Given the description of an element on the screen output the (x, y) to click on. 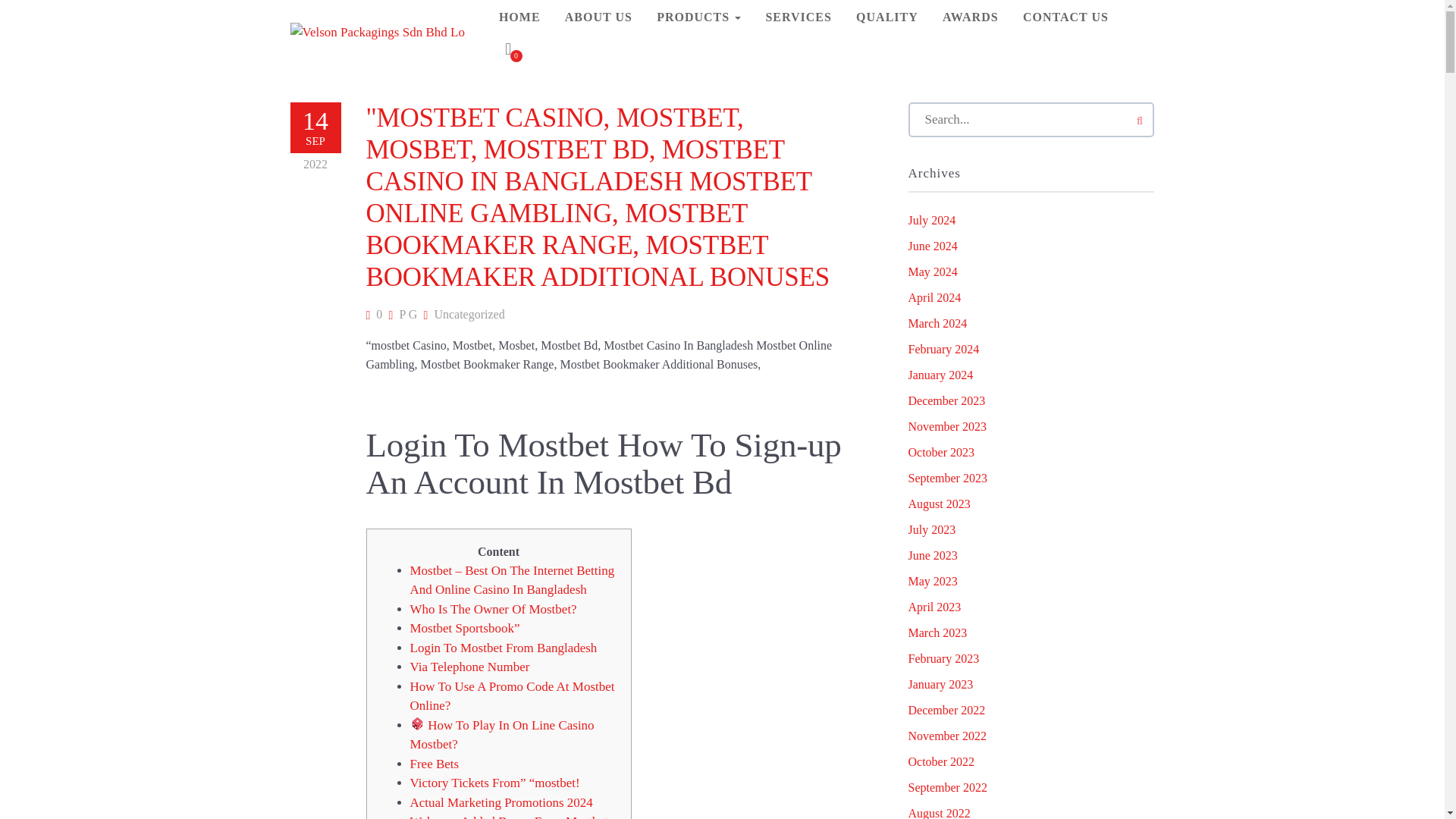
Velson Packagings Sdn Bhd (376, 32)
Home (519, 16)
Login To Mostbet From Bangladesh (502, 646)
SERVICES (797, 16)
Products (698, 16)
Via Telephone Number (469, 667)
Uncategorized (468, 314)
Welcome Added Bonus From Mostbet (508, 816)
Who Is The Owner Of Mostbet? (492, 608)
Awards (970, 16)
HOME (519, 16)
Quality (886, 16)
How To Play In On Line Casino Mostbet? (501, 734)
ABOUT US (598, 16)
Free Bets (433, 763)
